Given the description of an element on the screen output the (x, y) to click on. 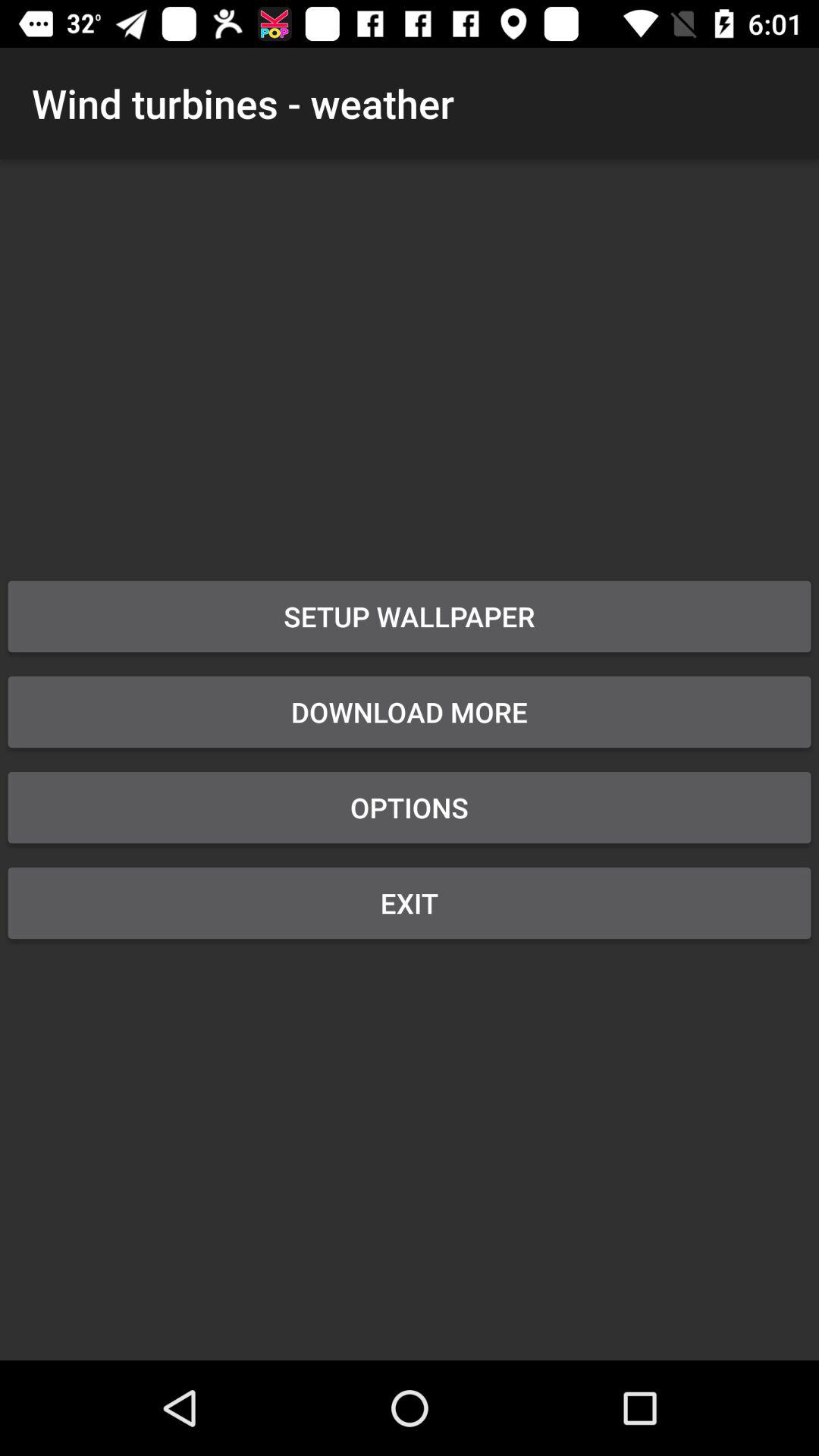
tap the exit (409, 902)
